Given the description of an element on the screen output the (x, y) to click on. 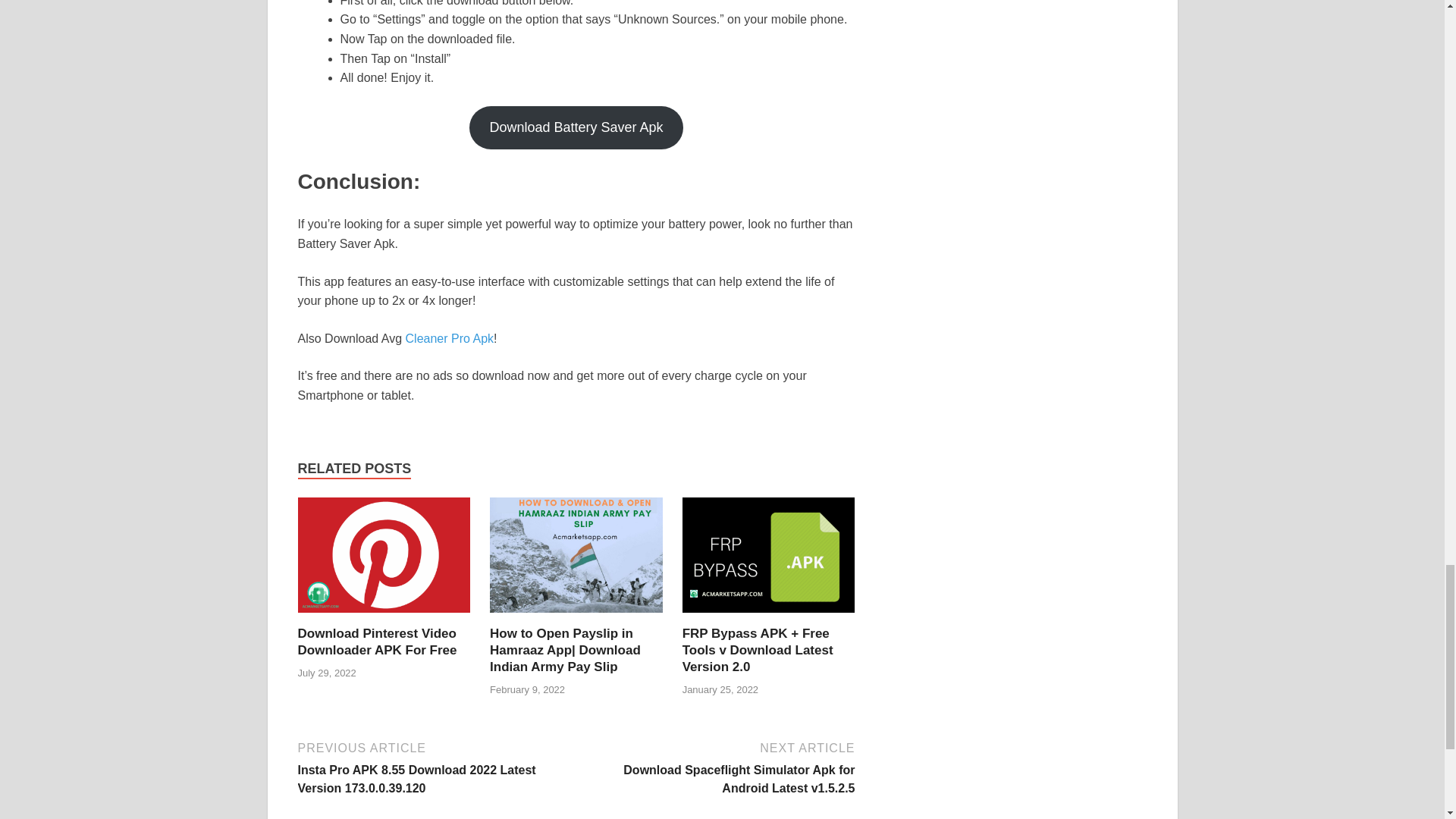
Download Pinterest Video Downloader APK For Free (377, 641)
Download Pinterest Video Downloader APK For Free (377, 641)
Cleaner Pro Apk (450, 338)
Download Pinterest Video Downloader APK For Free (383, 560)
Download Battery Saver Apk (575, 127)
